Given the description of an element on the screen output the (x, y) to click on. 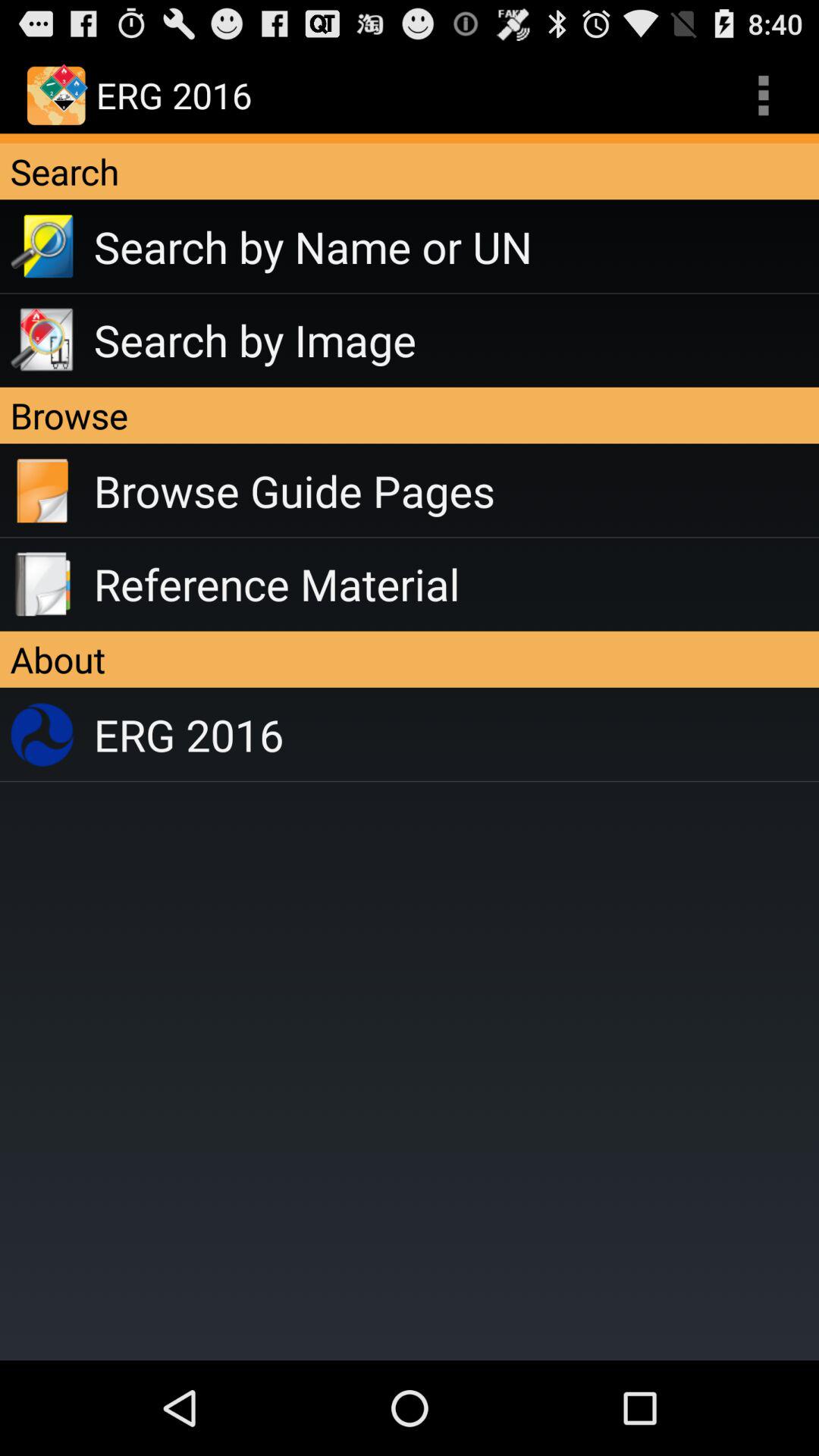
select the icon above the about app (456, 584)
